Given the description of an element on the screen output the (x, y) to click on. 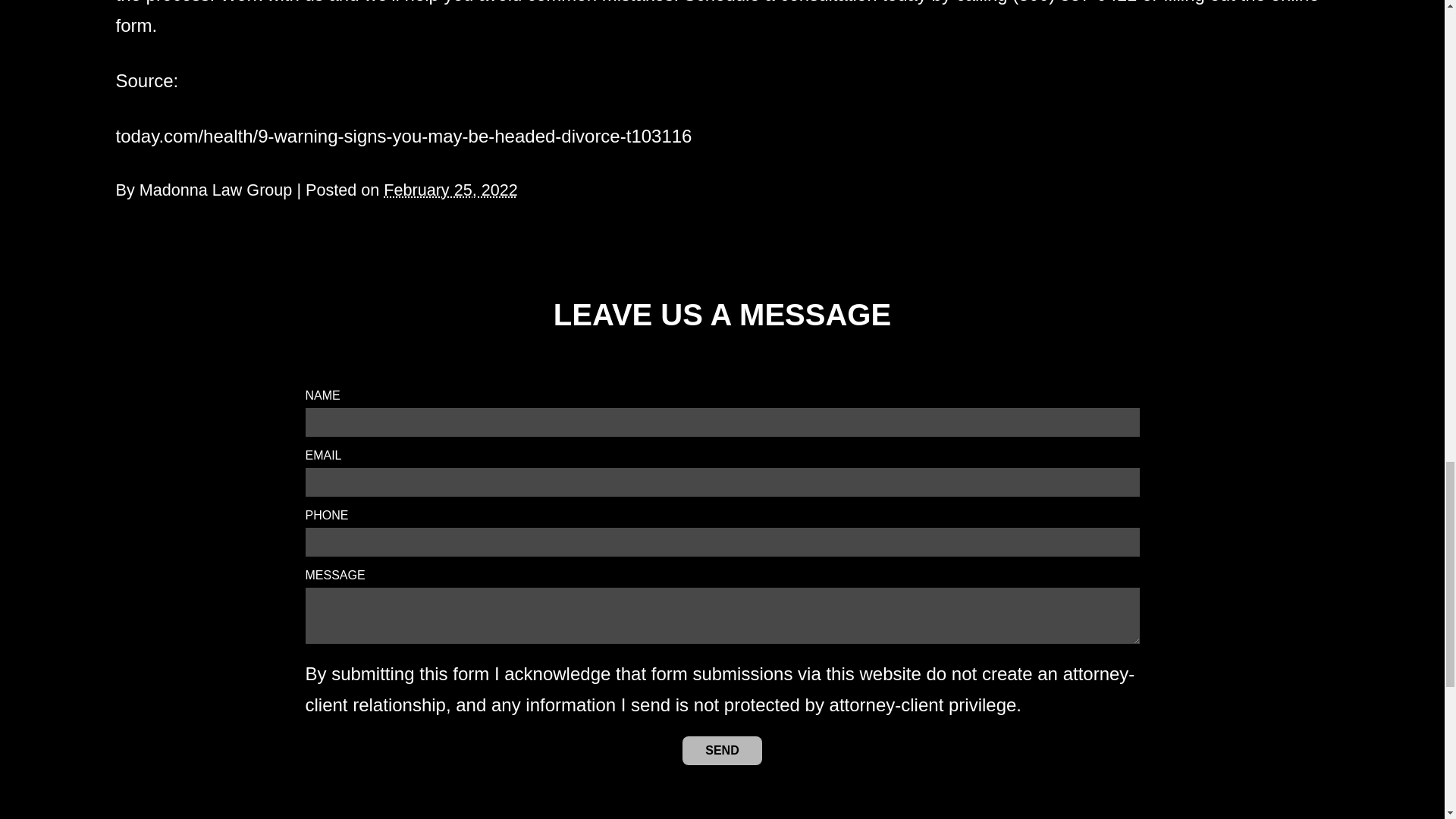
Send (721, 750)
2022-02-25T08:07:14-0800 (450, 189)
